Given the description of an element on the screen output the (x, y) to click on. 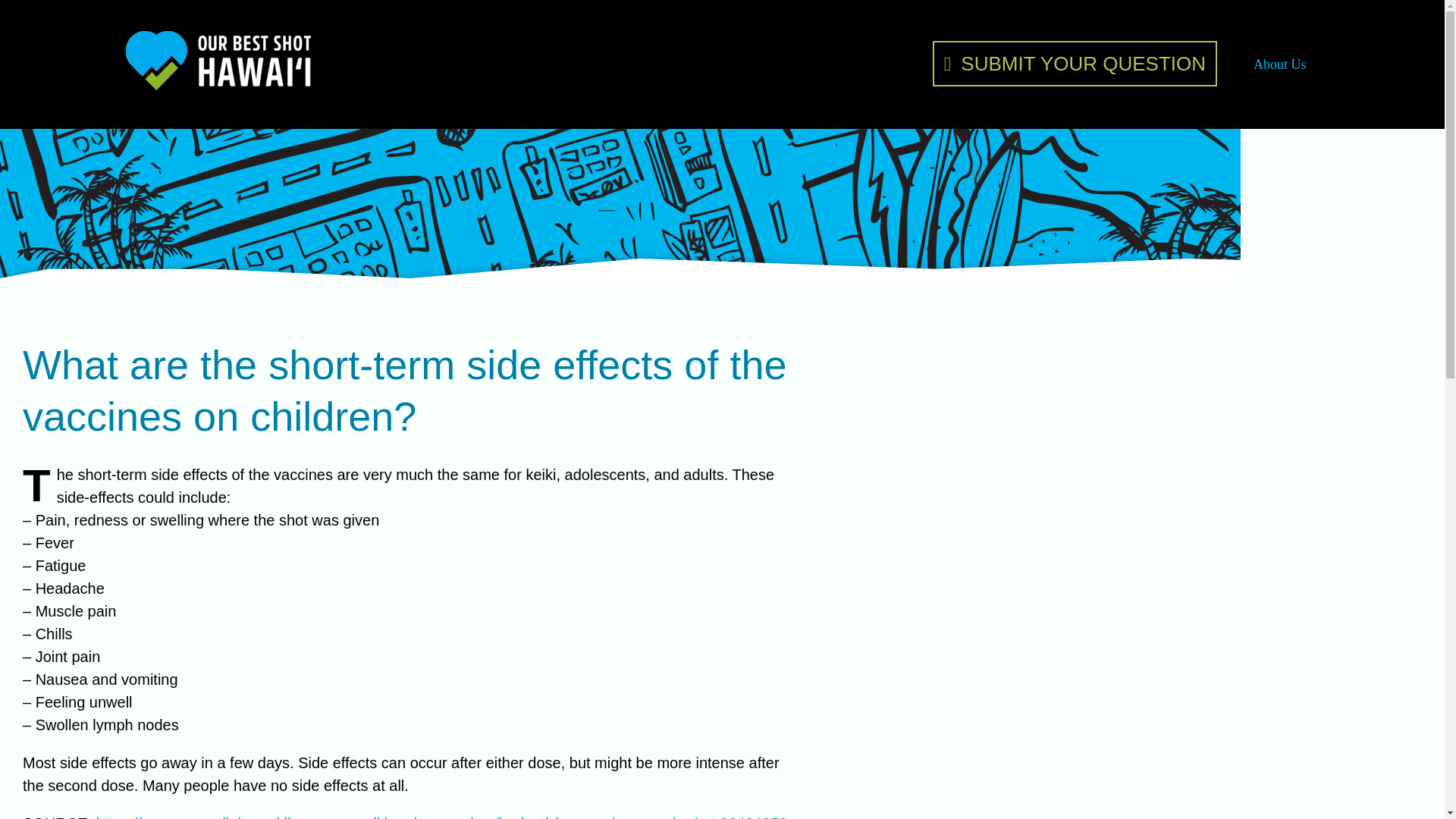
SUBMIT YOUR QUESTION (1075, 63)
